Given the description of an element on the screen output the (x, y) to click on. 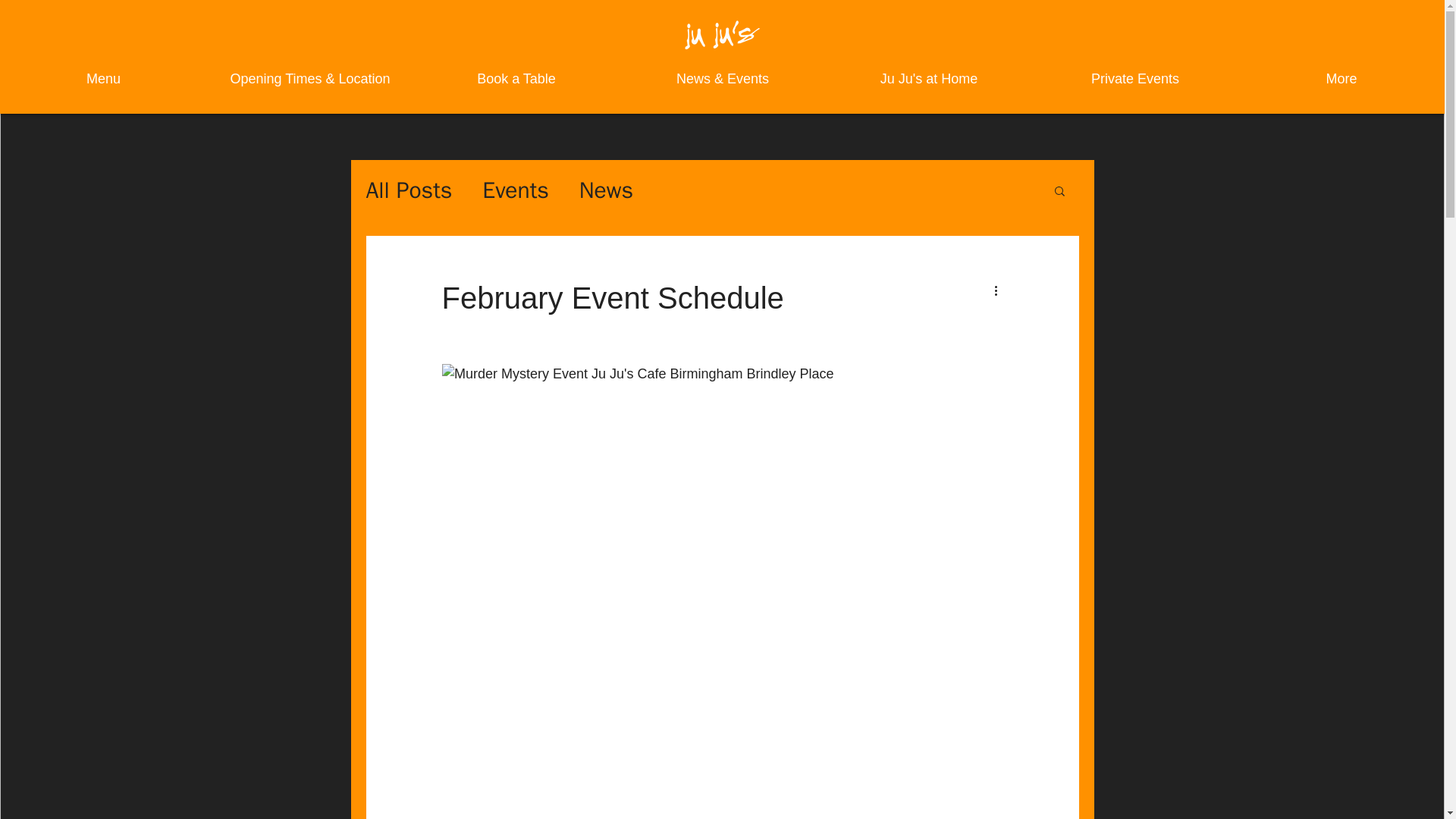
All Posts (408, 189)
News (606, 189)
Ju Ju's at Home (928, 79)
Menu (103, 79)
Private Events (1135, 79)
Events (514, 189)
Book a Table (516, 79)
